Given the description of an element on the screen output the (x, y) to click on. 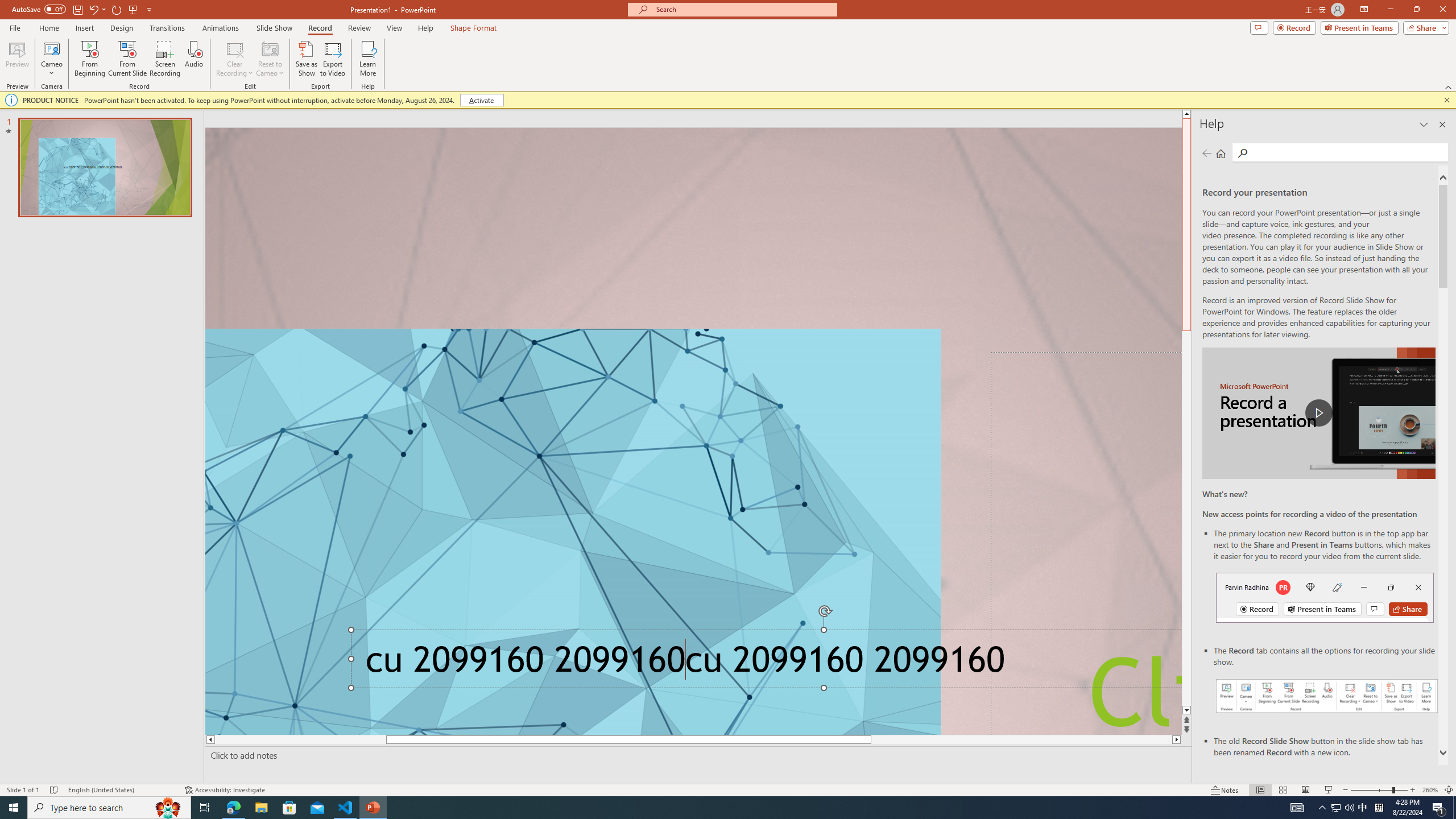
Activate (481, 100)
